Given the description of an element on the screen output the (x, y) to click on. 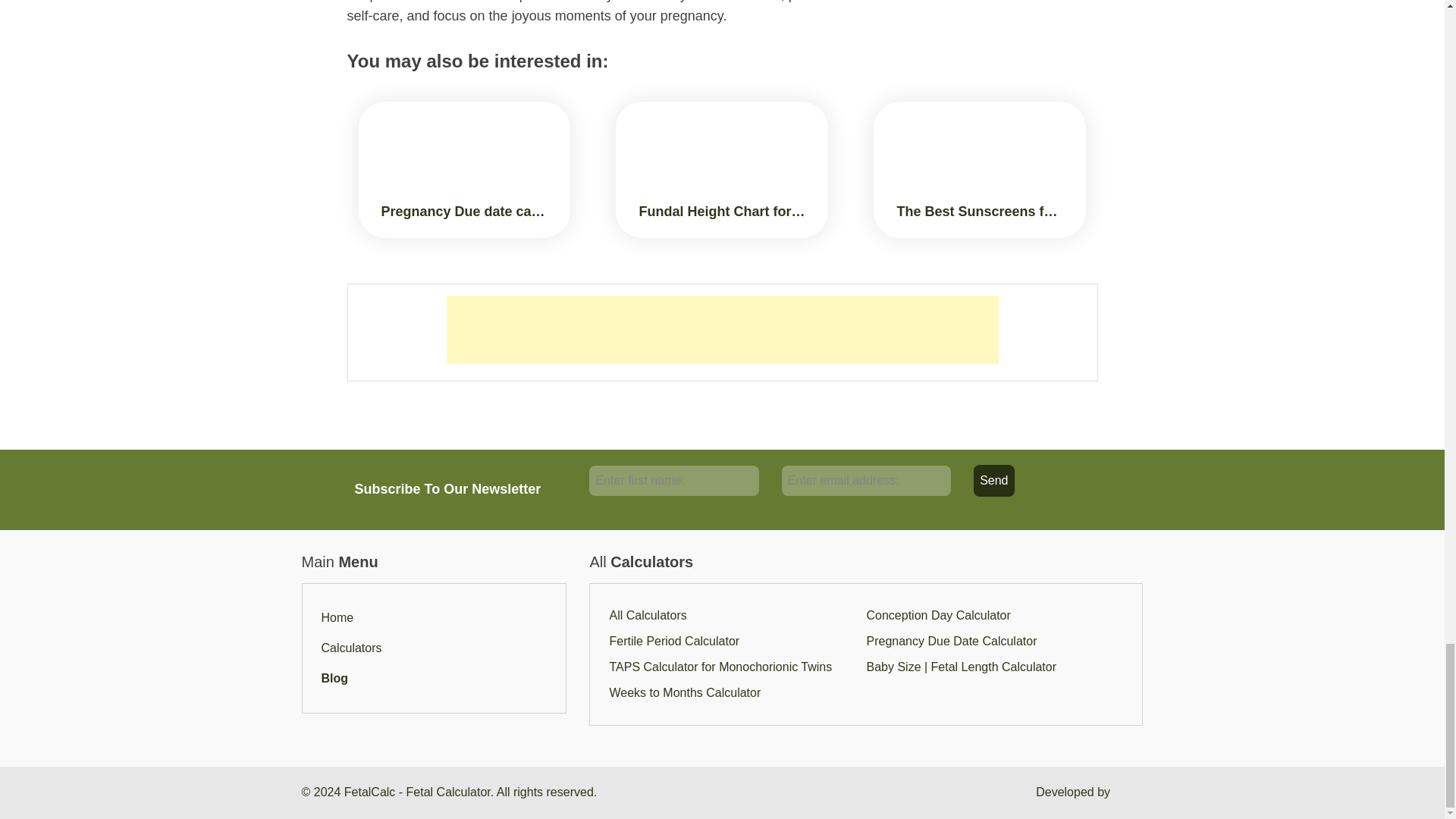
All Calculators (646, 615)
Home (337, 617)
Blog (335, 677)
Fertile Period Calculator (673, 640)
Send (993, 480)
Pregnancy Due Date Calculator (951, 640)
Fundal Height Chart for Twins (721, 169)
Conception Day Calculator (938, 615)
Calculators (351, 647)
